Given the description of an element on the screen output the (x, y) to click on. 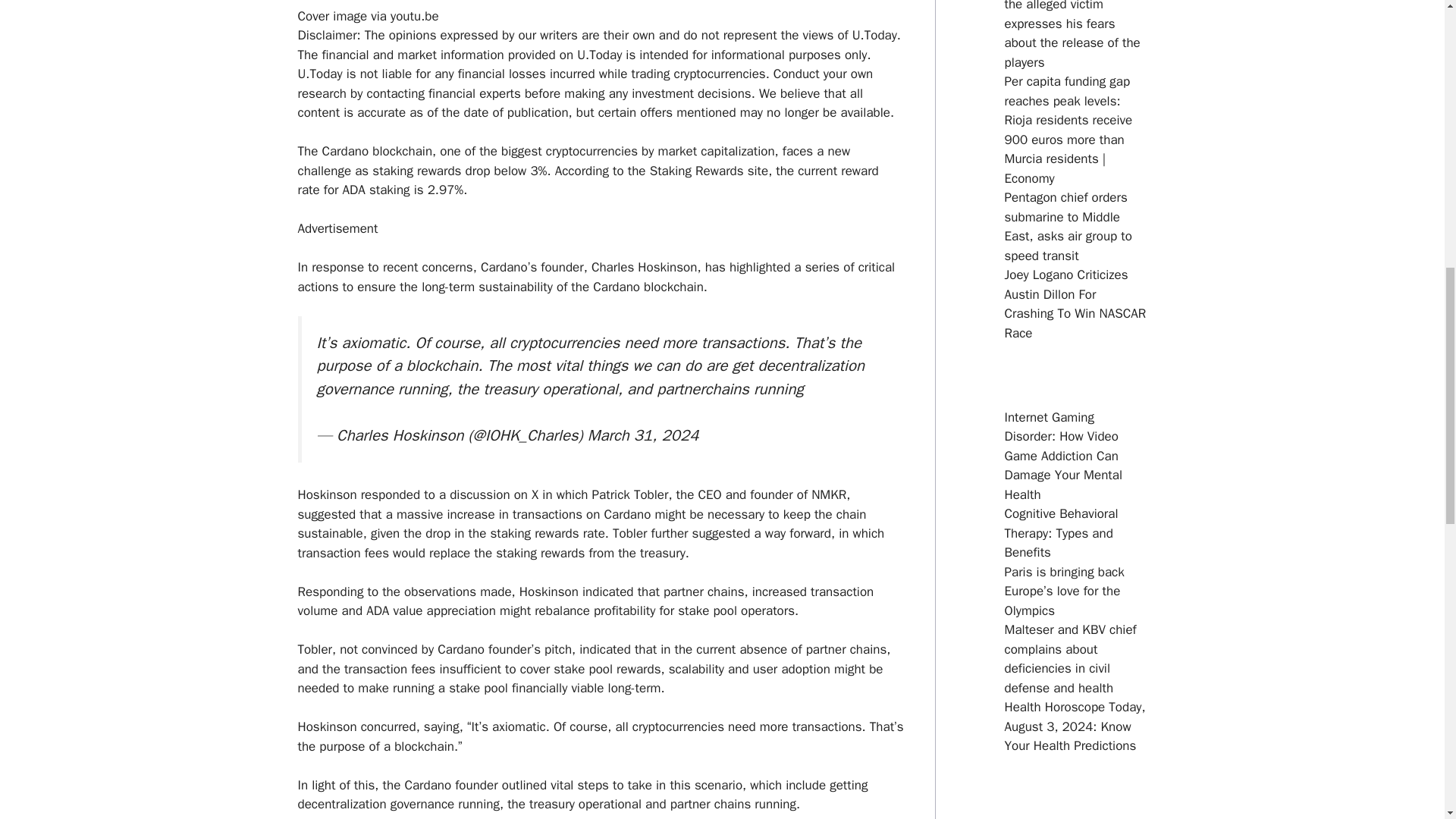
Cognitive Behavioral Therapy: Types and Benefits (1061, 533)
